Given the description of an element on the screen output the (x, y) to click on. 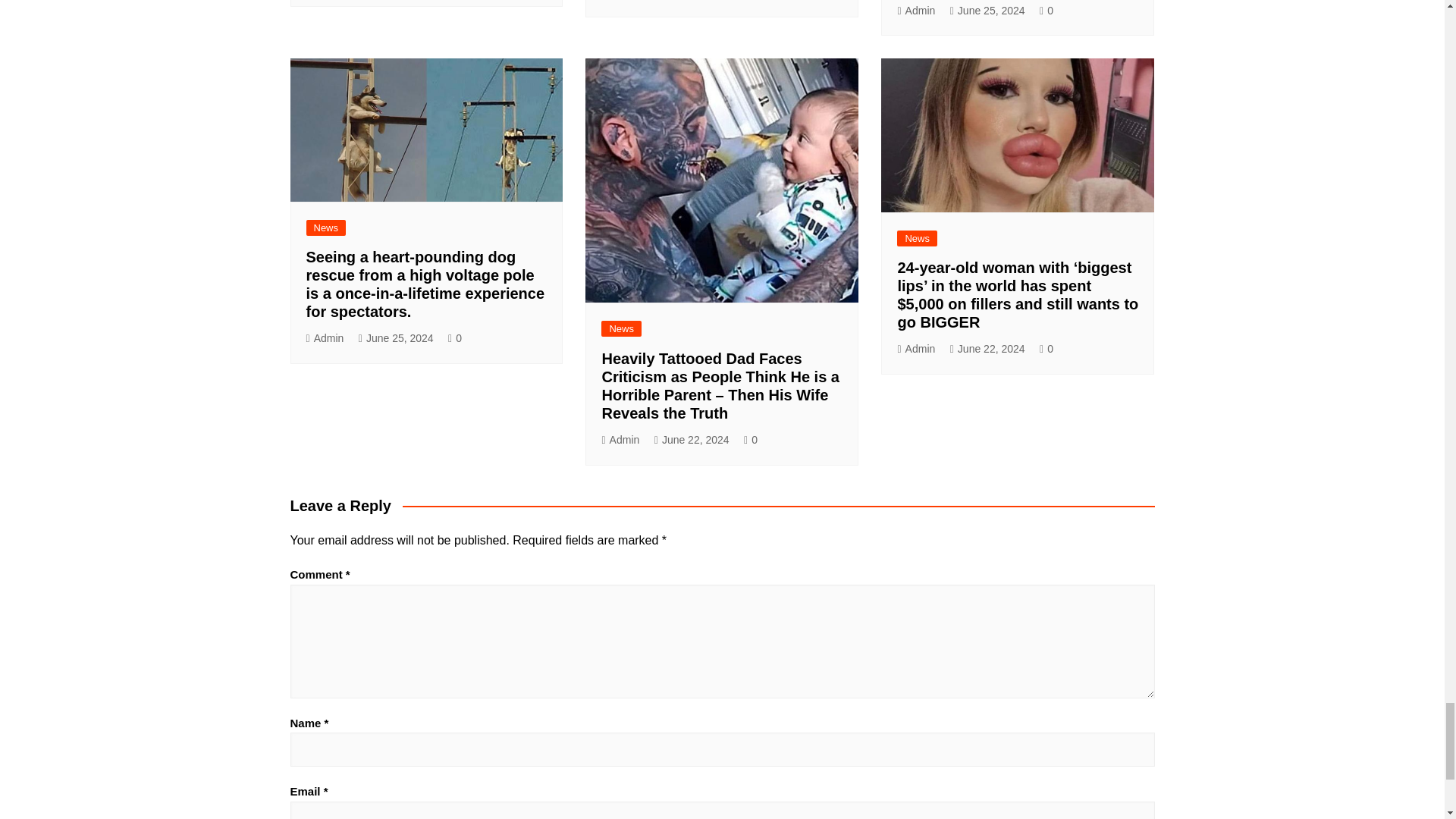
Admin (620, 0)
July 2, 2024 (686, 0)
June 25, 2024 (395, 338)
0 (1045, 10)
June 25, 2024 (987, 10)
News (325, 227)
Admin (324, 338)
Admin (915, 10)
